Given the description of an element on the screen output the (x, y) to click on. 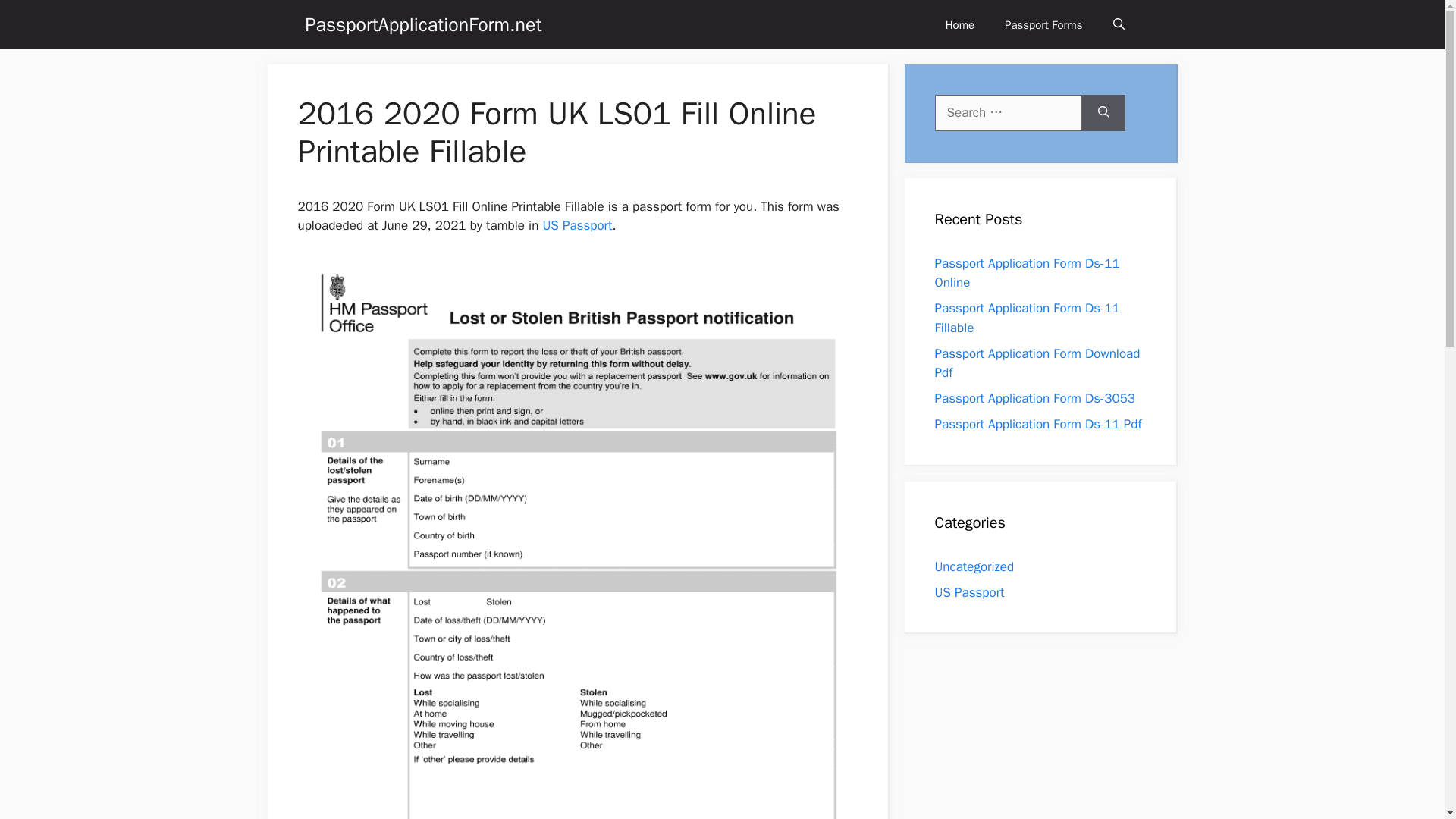
Passport Application Form Ds-11 Fillable (1026, 317)
Passport Application Form Ds-3053 (1034, 398)
Search for: (1007, 113)
PassportApplicationForm.net (422, 24)
Home (960, 23)
Passport Application Form Ds-11 Pdf (1037, 424)
Uncategorized (973, 565)
Passport Application Form Ds-11 Online (1026, 272)
Passport Application Form Download Pdf (1037, 363)
US Passport (576, 225)
Passport Forms (1043, 23)
US Passport (969, 591)
